Given the description of an element on the screen output the (x, y) to click on. 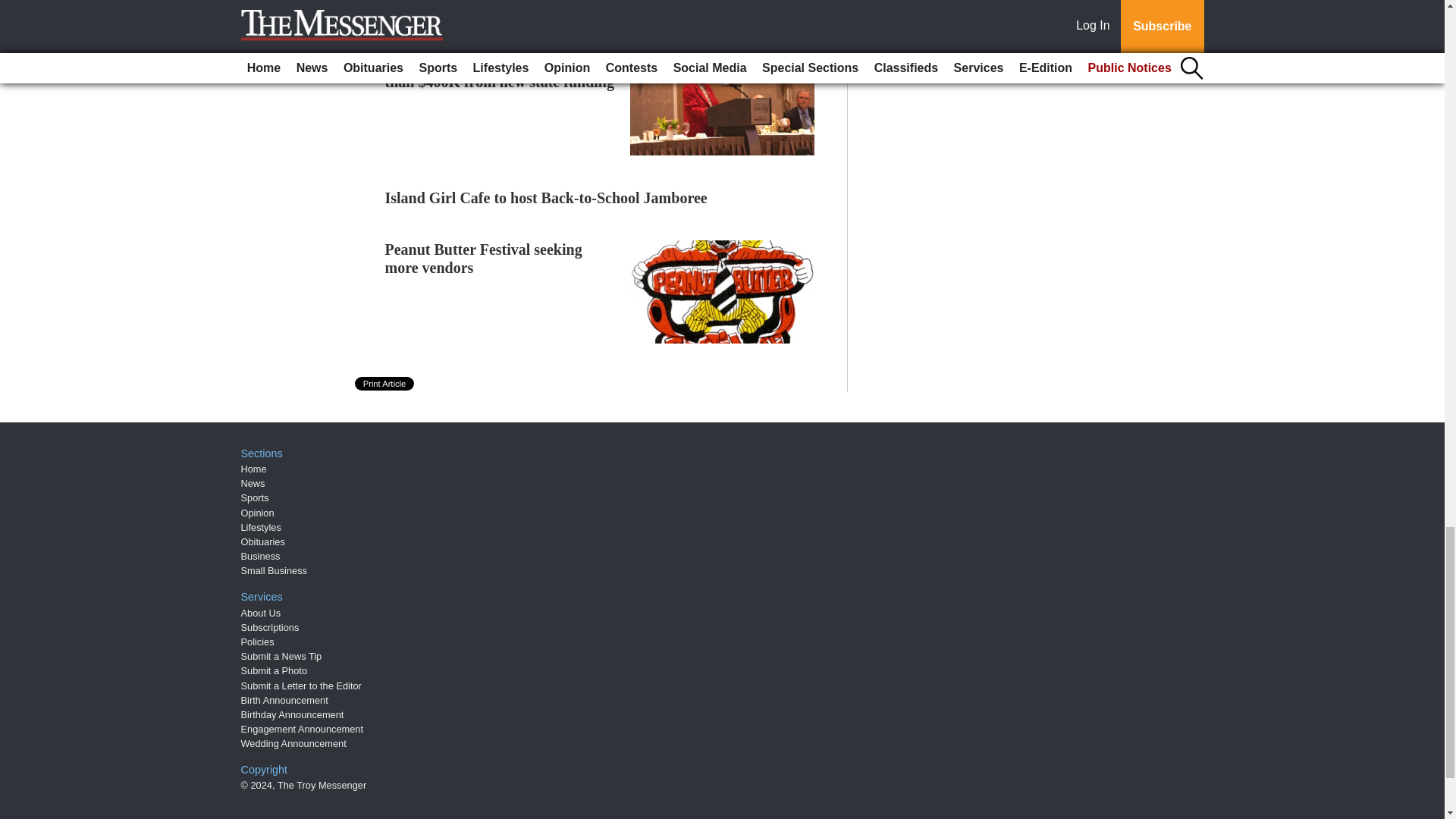
Peanut Butter Festival seeking more vendors (483, 258)
Island Girl Cafe to host Back-to-School Jamboree (546, 197)
